Given the description of an element on the screen output the (x, y) to click on. 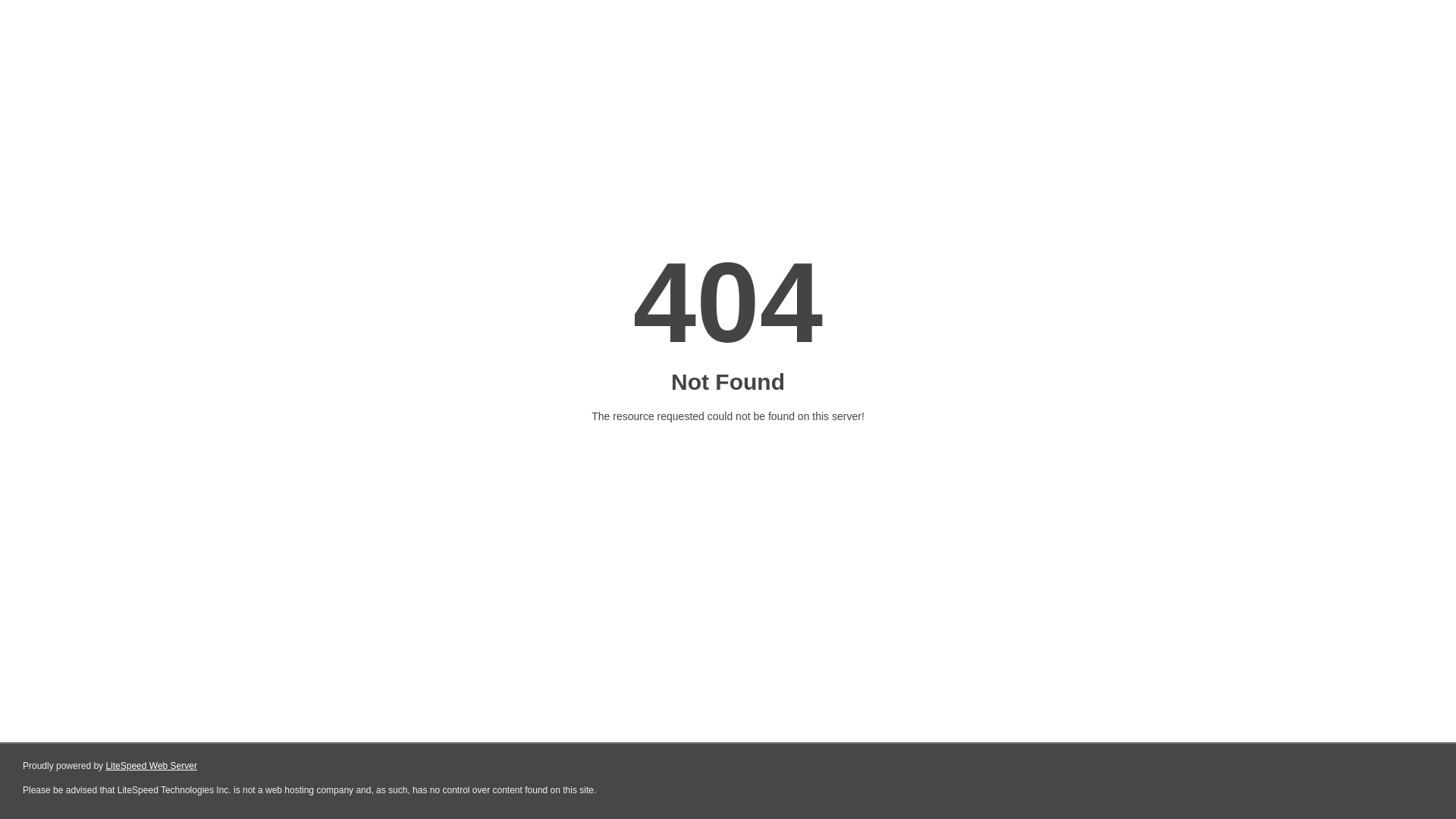
LiteSpeed Web Server (150, 765)
